Given the description of an element on the screen output the (x, y) to click on. 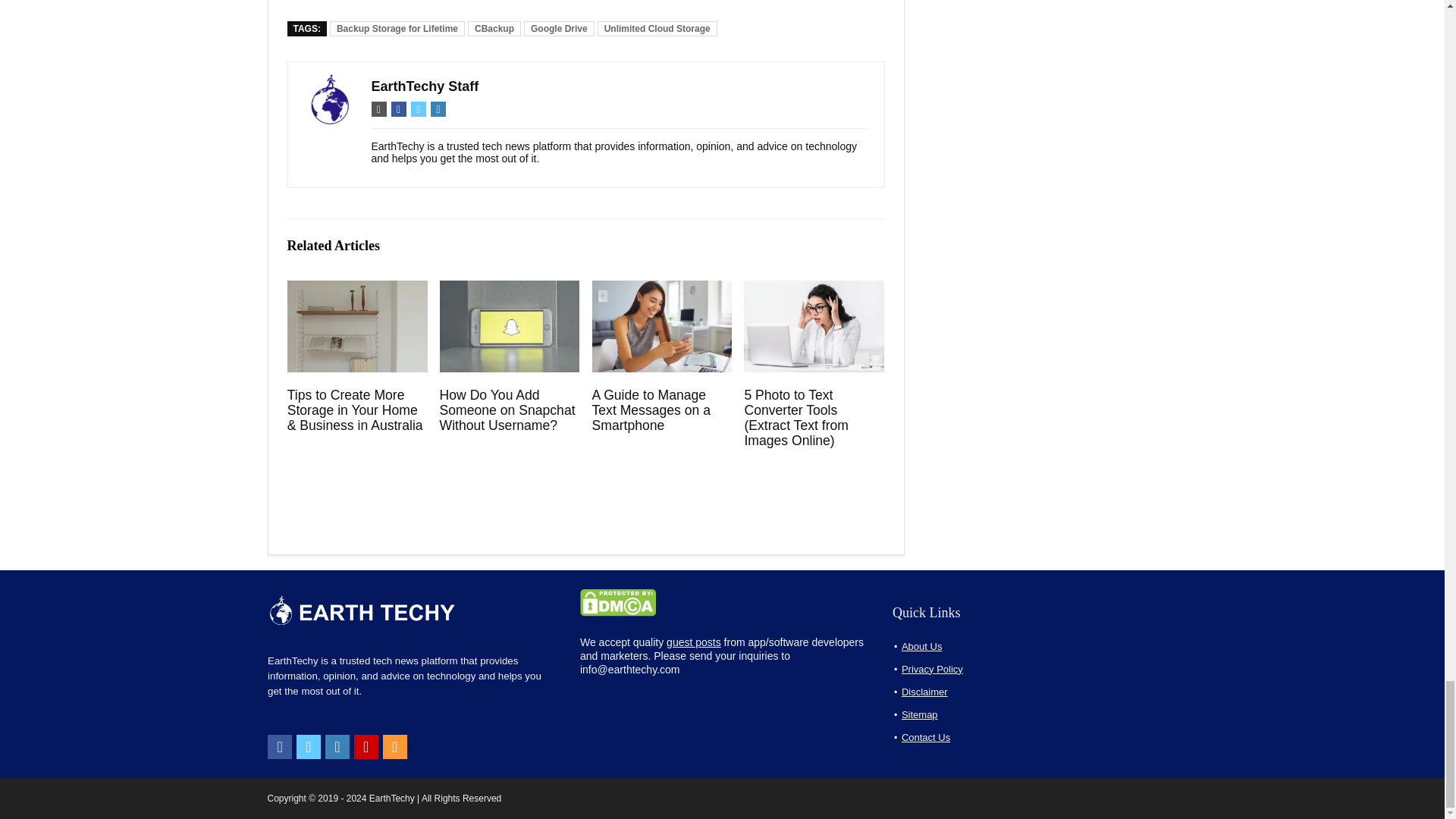
Google Drive (559, 28)
Unlimited Cloud Storage (656, 28)
Backup Storage for Lifetime (397, 28)
DMCA.com Protection Status (617, 595)
EarthTechy Staff (425, 86)
CBackup (494, 28)
